Given the description of an element on the screen output the (x, y) to click on. 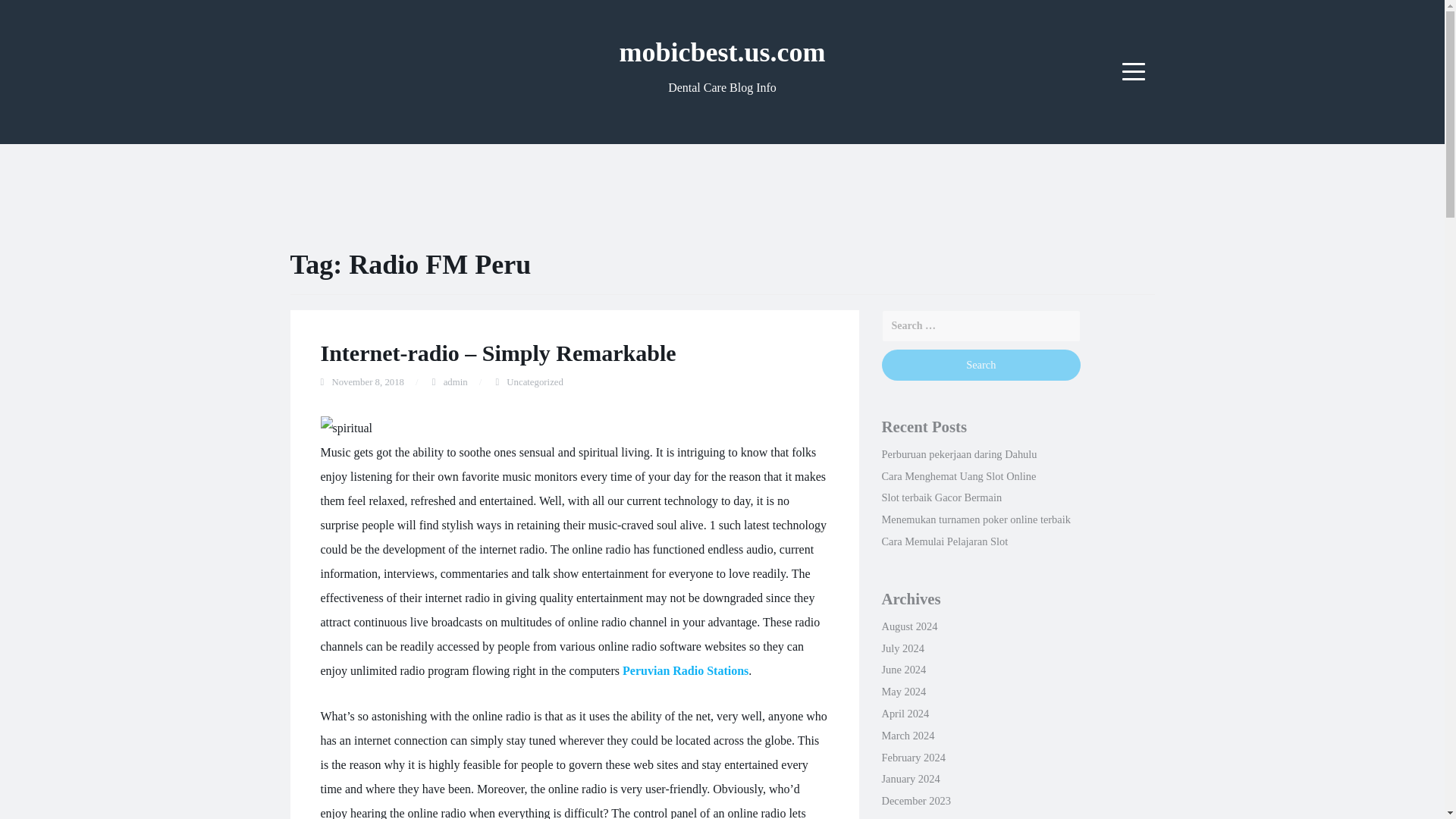
Menemukan turnamen poker online terbaik (975, 519)
Cara Menghemat Uang Slot Online (957, 476)
Uncategorized (534, 381)
Slot terbaik Gacor Bermain (940, 497)
Search (980, 364)
November 8, 2018 (367, 381)
August 2024 (908, 625)
July 2024 (901, 648)
Search (980, 364)
Menu (1133, 71)
